Given the description of an element on the screen output the (x, y) to click on. 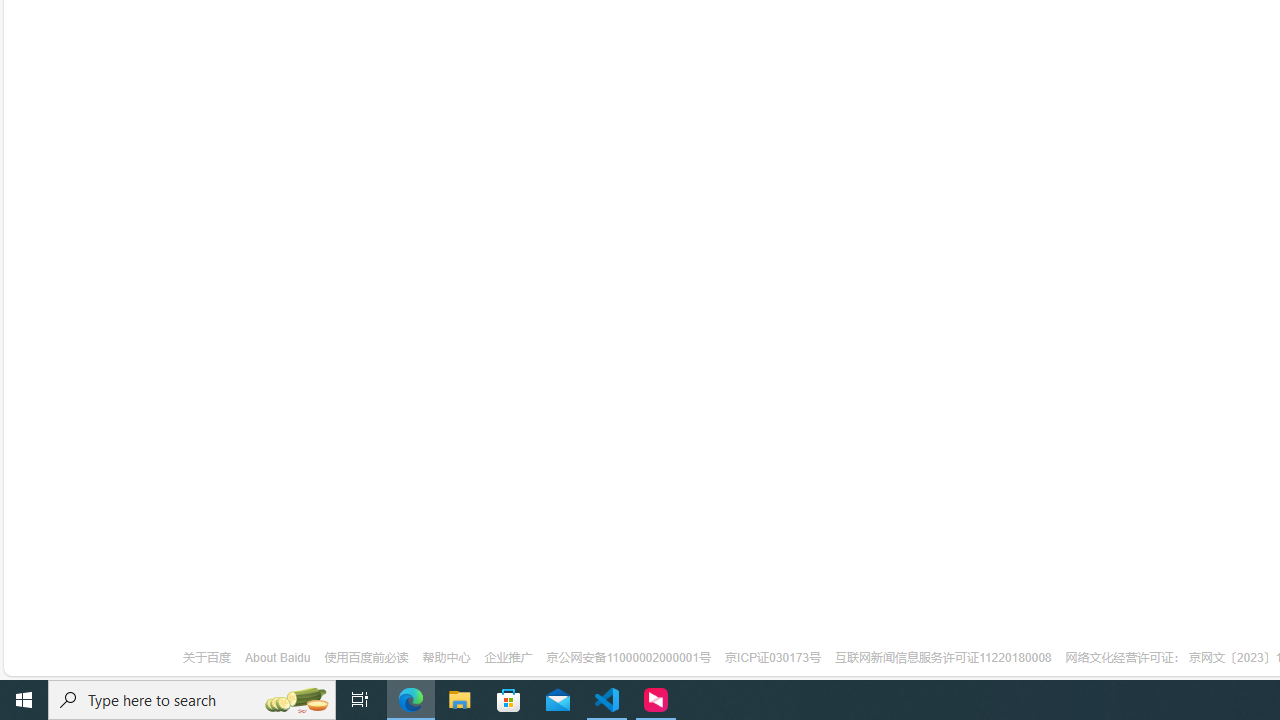
About Baidu (277, 657)
